Given the description of an element on the screen output the (x, y) to click on. 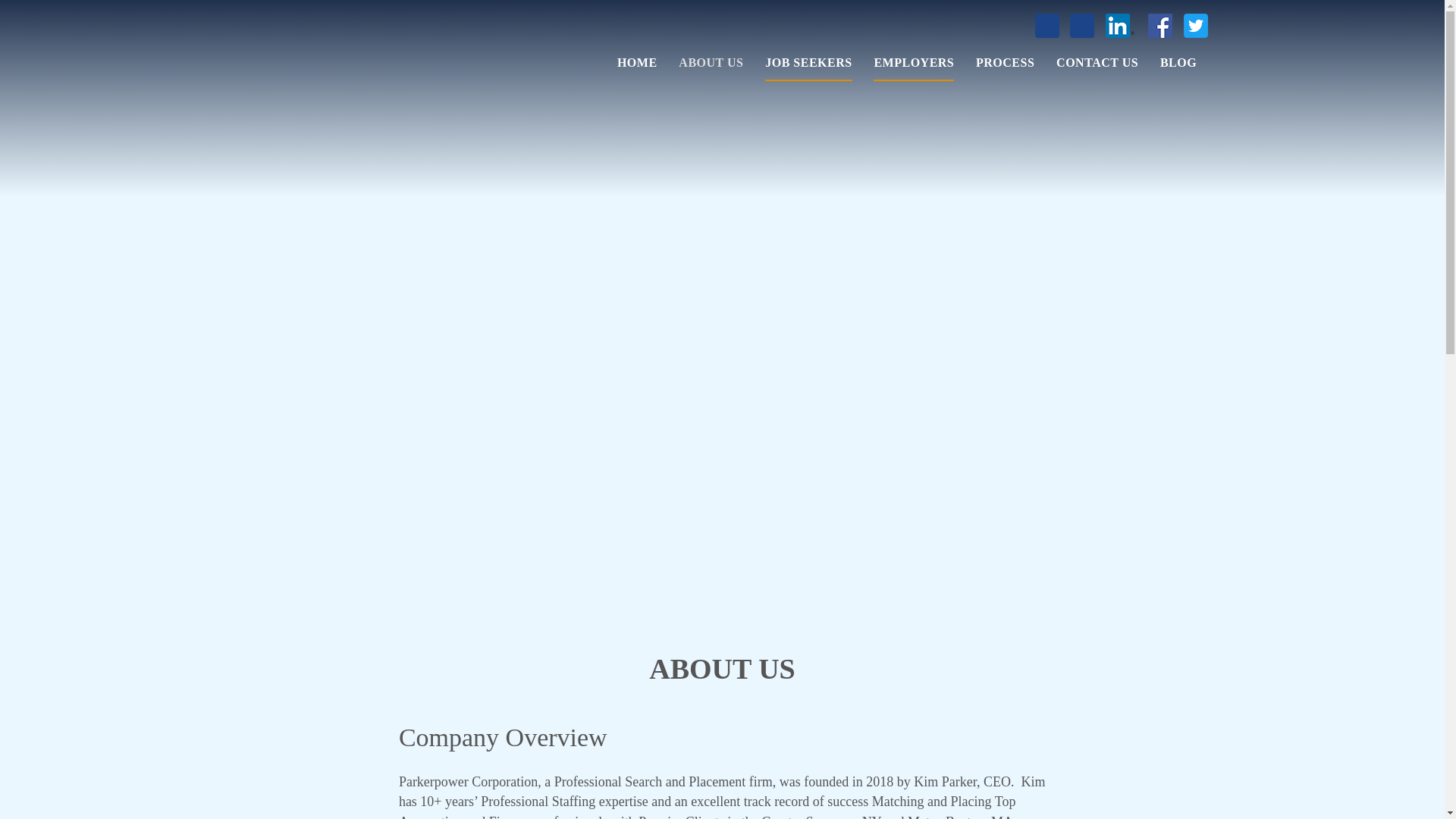
EMPLOYERS (913, 67)
Parkerpower Corporation (315, 68)
PARKERPOWER CORPORATION (315, 68)
ABOUT US (710, 66)
BLOG (1178, 66)
JOB SEEKERS (808, 67)
PROCESS (1004, 66)
HOME (637, 66)
CONTACT US (1097, 66)
Call: 315-935-9289 (1047, 25)
